Given the description of an element on the screen output the (x, y) to click on. 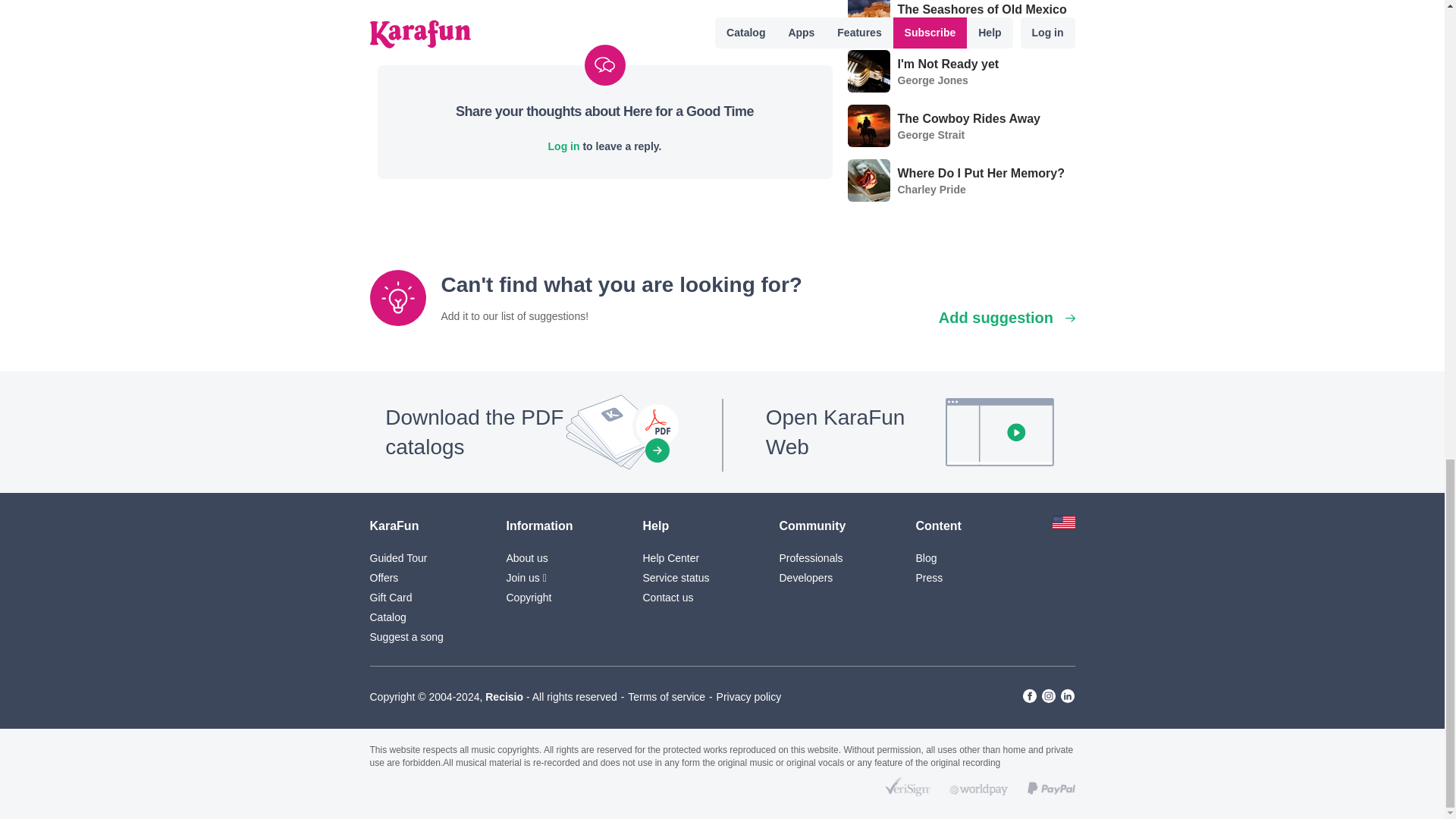
Log in (563, 146)
Other countries (1063, 524)
RECISIO Group (503, 696)
